Given the description of an element on the screen output the (x, y) to click on. 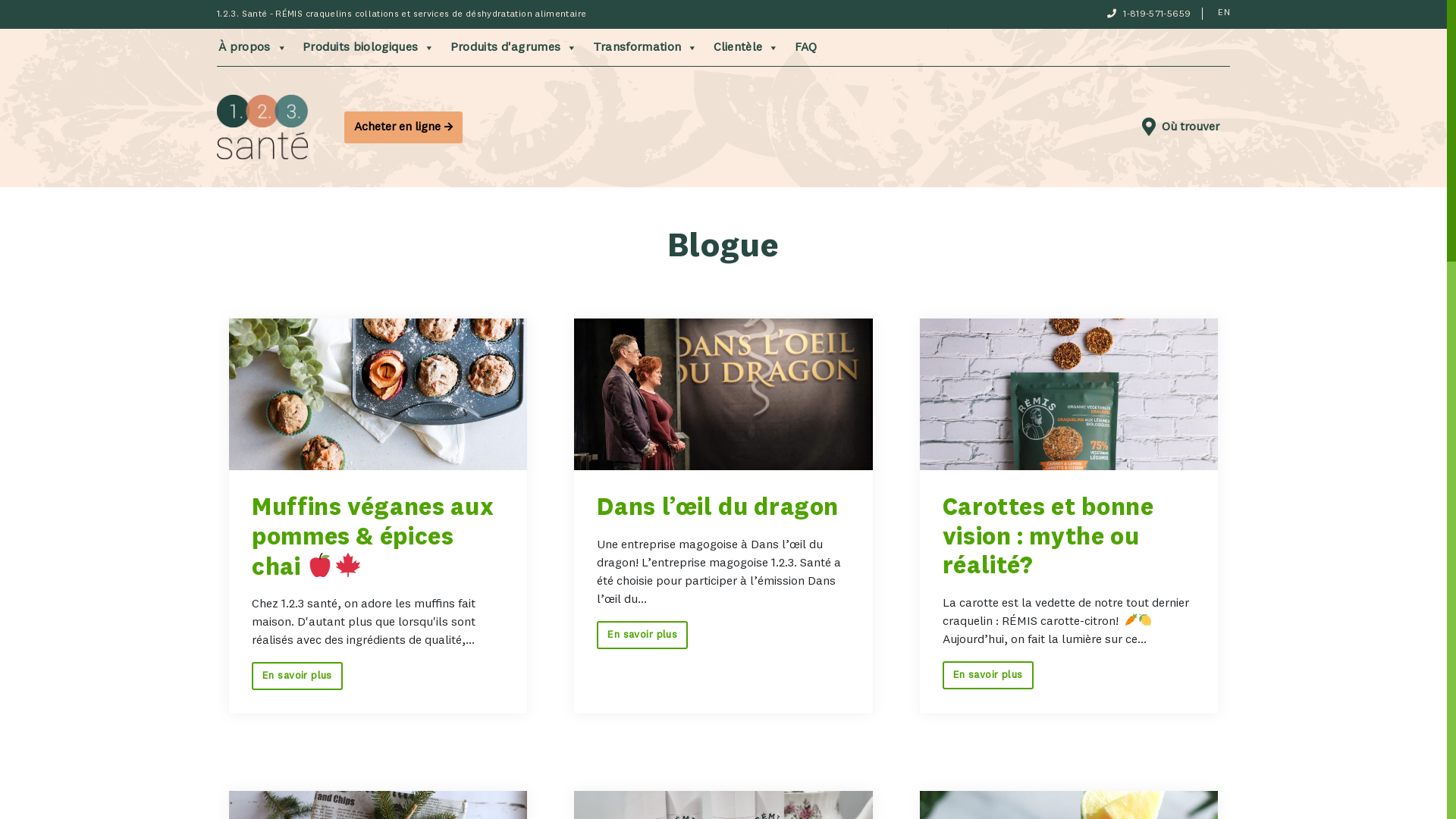
En savoir plus Element type: text (641, 635)
En savoir plus Element type: text (296, 676)
Acheter en ligne Element type: text (403, 127)
FAQ Element type: text (806, 47)
En savoir plus Element type: text (987, 675)
Transformation Element type: text (645, 47)
Produits biologiques Element type: text (368, 47)
Produits d'agrumes Element type: text (513, 47)
1-819-571-5659 Element type: text (1156, 13)
EN Element type: text (1223, 12)
